Given the description of an element on the screen output the (x, y) to click on. 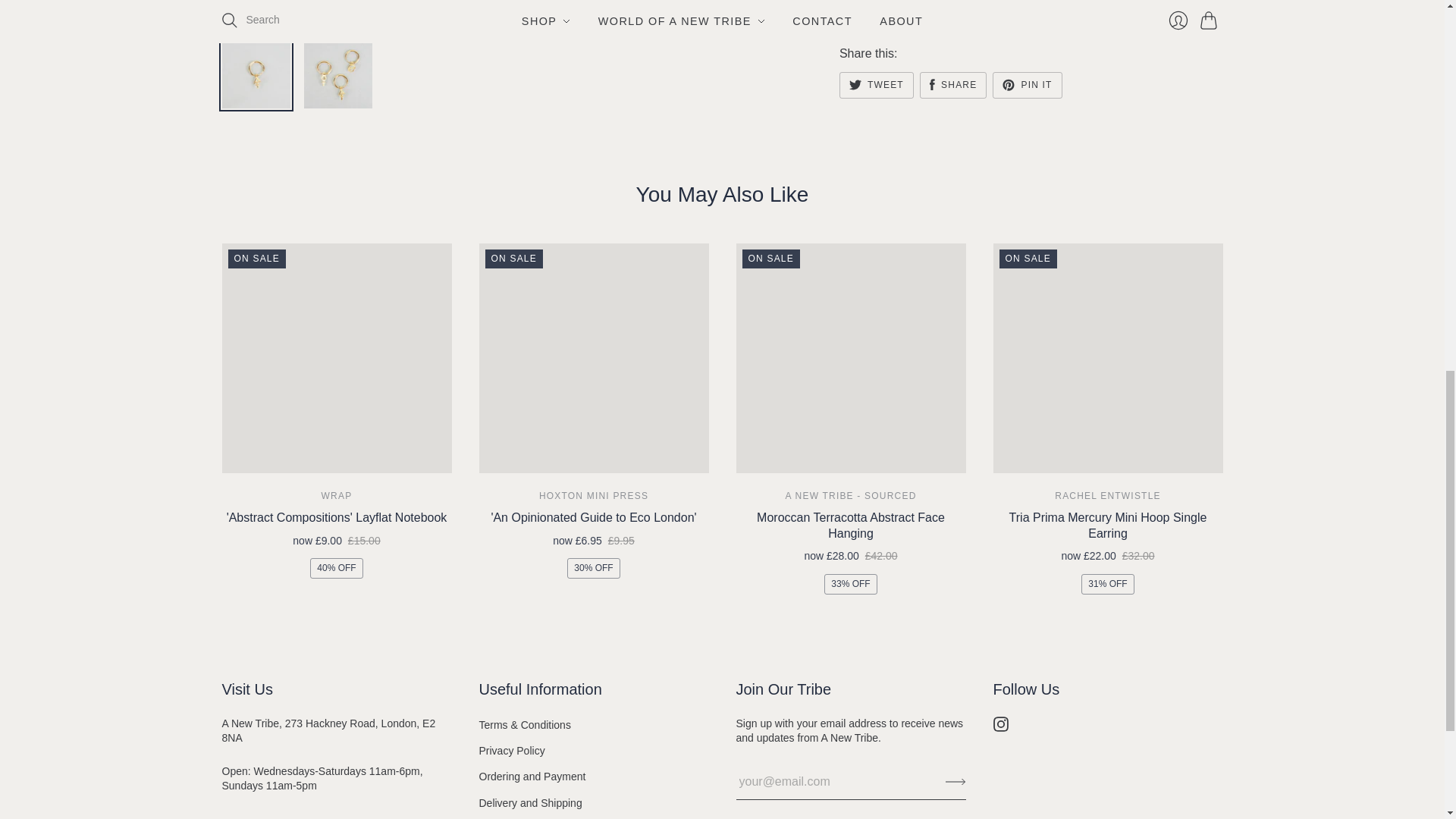
Hoxton Mini Press (592, 495)
Rachel Entwistle (1107, 495)
Wrap (336, 495)
A New Tribe - Sourced (851, 495)
